Given the description of an element on the screen output the (x, y) to click on. 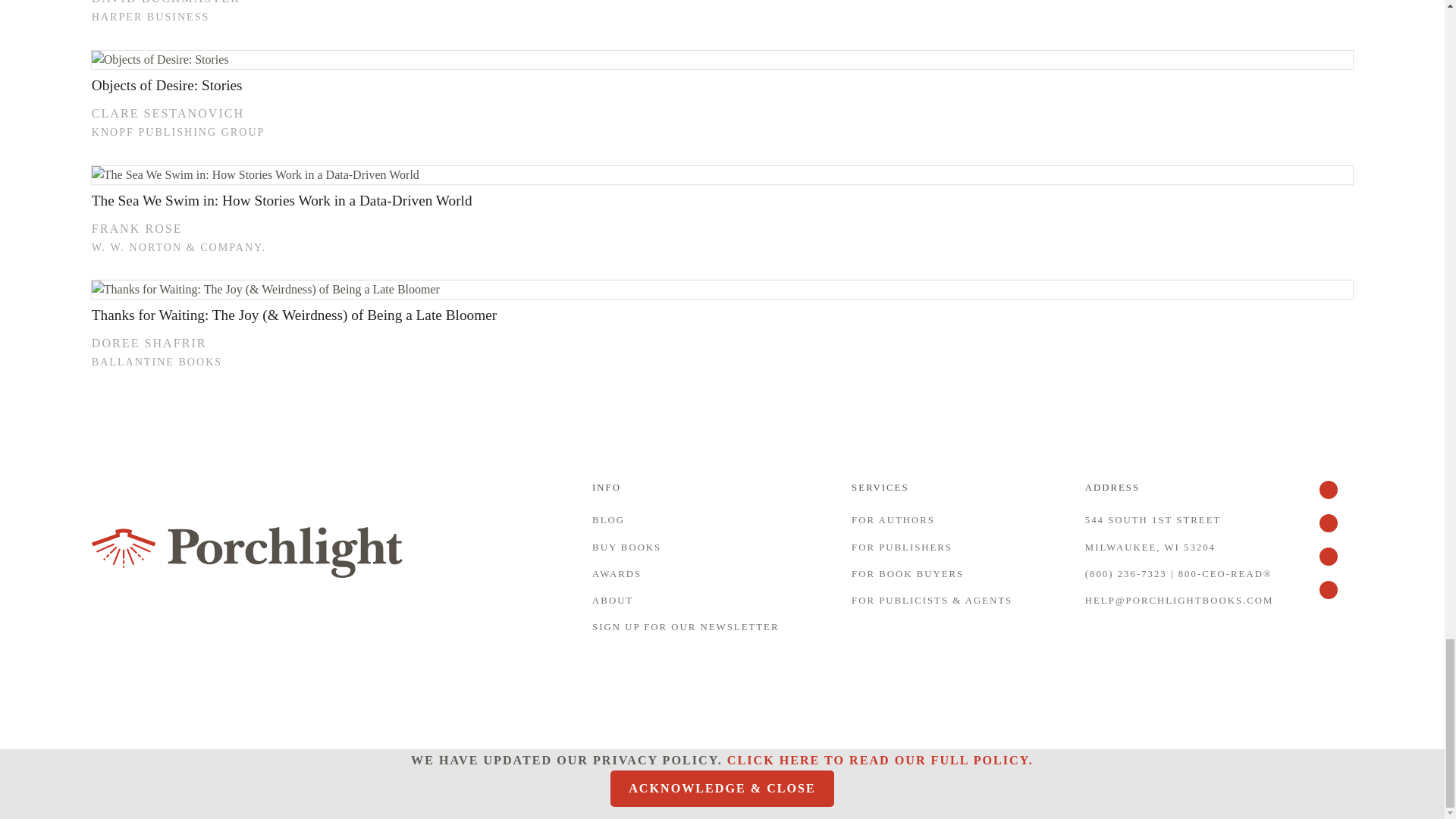
The Sea We Swim in: How Stories Work in a Data-Driven World (721, 175)
Facebook (1335, 530)
Twitter (1335, 497)
LinkedIn (1335, 563)
Instagram (1335, 597)
 Objects of Desire: Stories (721, 59)
